Given the description of an element on the screen output the (x, y) to click on. 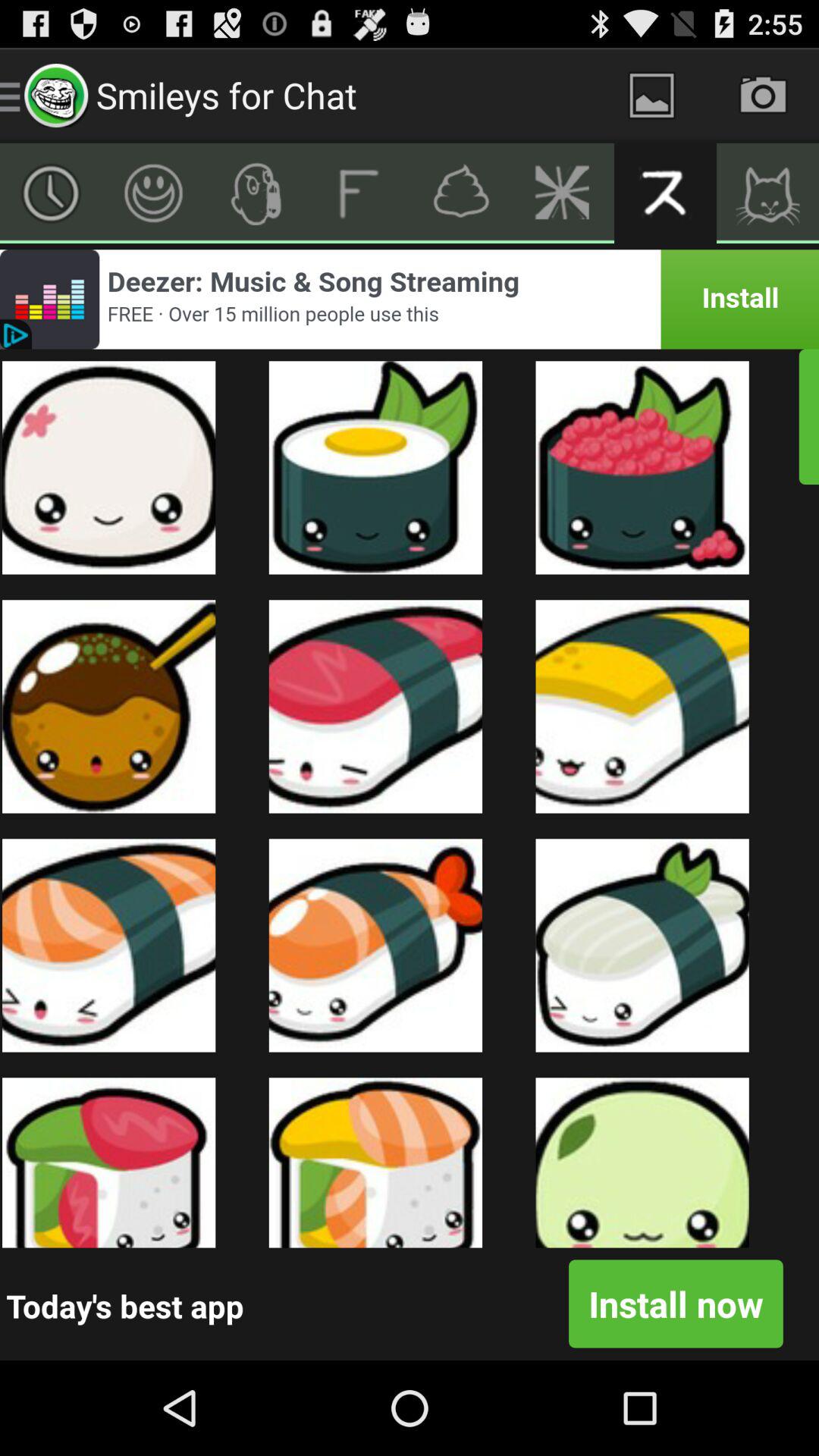
go to camera (763, 95)
